Given the description of an element on the screen output the (x, y) to click on. 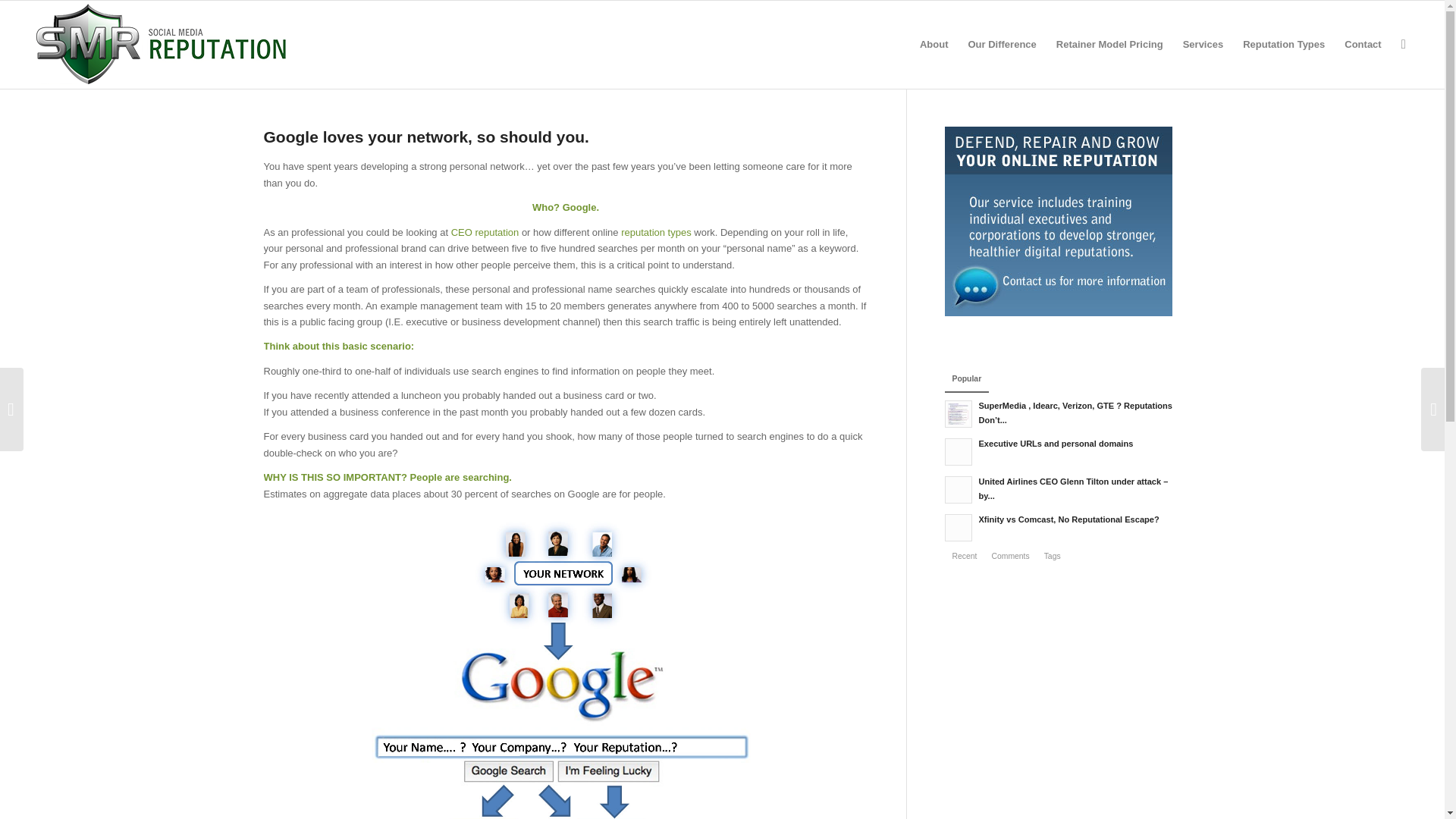
Executive URLs and personal domains (1062, 450)
Executive URLs and personal domains (1062, 450)
CEO reputation (485, 232)
Reputation Types (1284, 44)
reputation types (656, 232)
reputation types (656, 232)
Retainer Model Pricing (1109, 44)
ceo reputation (485, 232)
socialmediareputation (565, 664)
social-media-reputation-horiz (161, 43)
Our Difference (1001, 44)
